Given the description of an element on the screen output the (x, y) to click on. 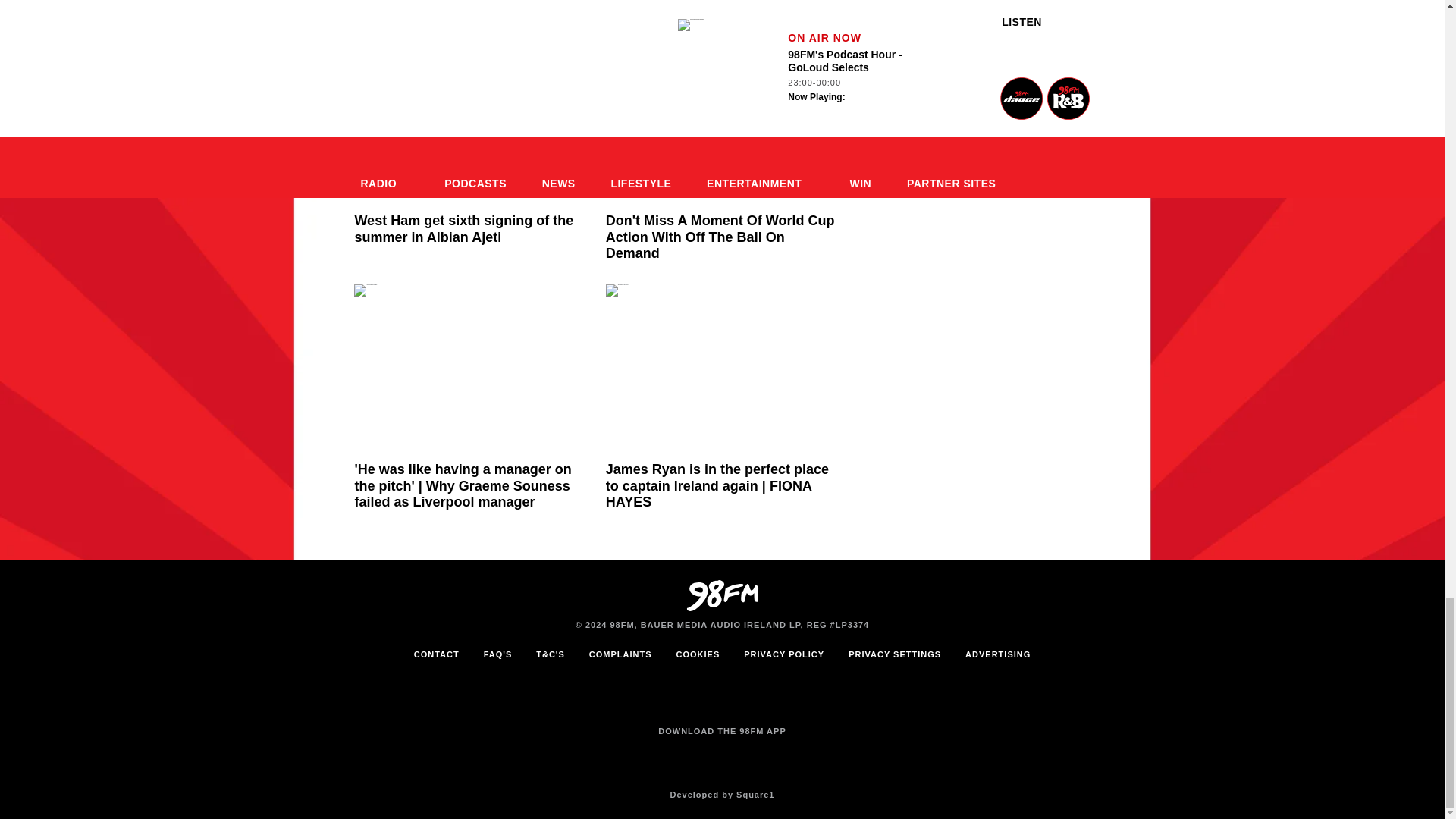
Contact (436, 654)
FAQ's (497, 654)
